Given the description of an element on the screen output the (x, y) to click on. 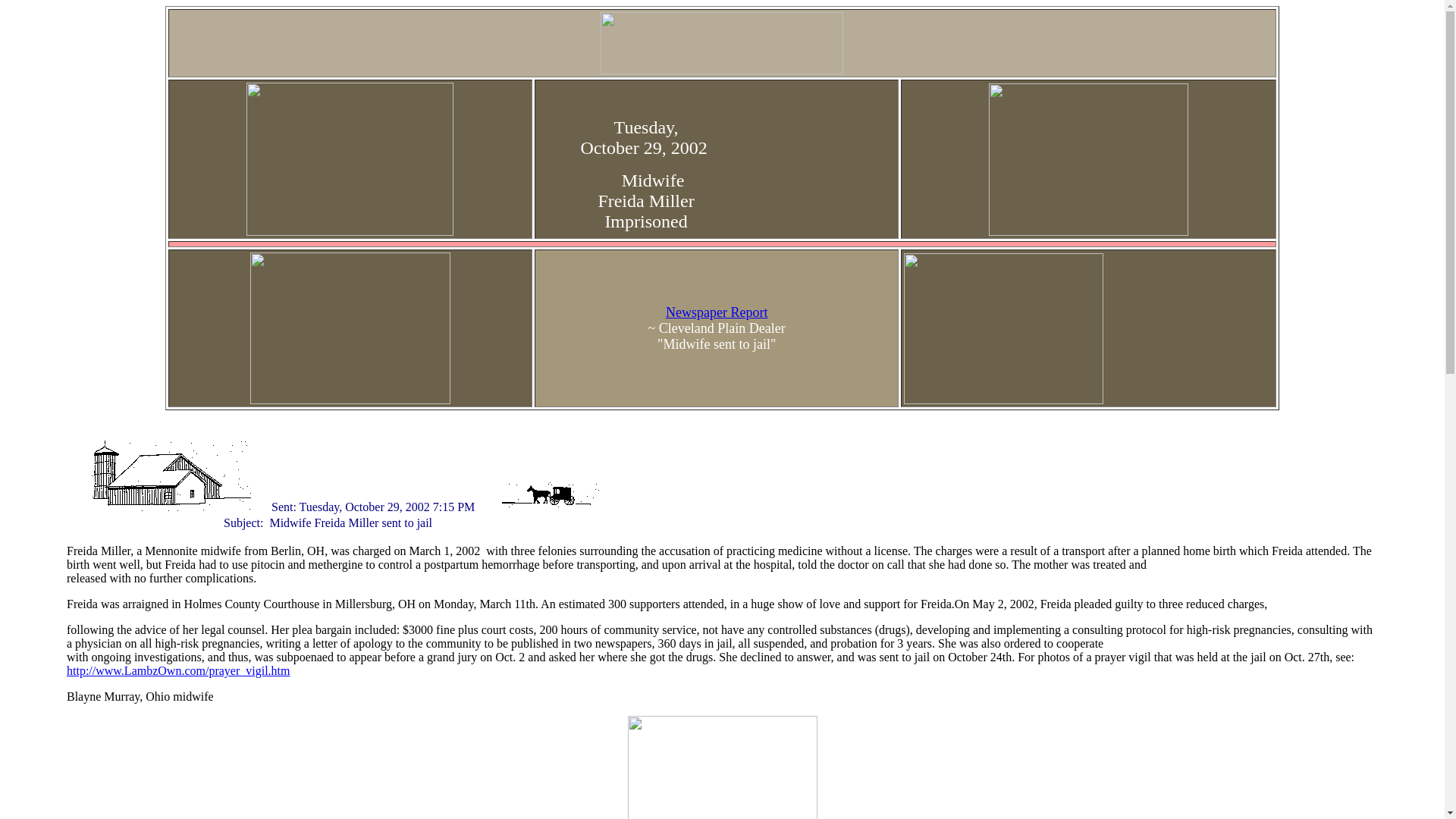
Newspaper Report (716, 312)
